Given the description of an element on the screen output the (x, y) to click on. 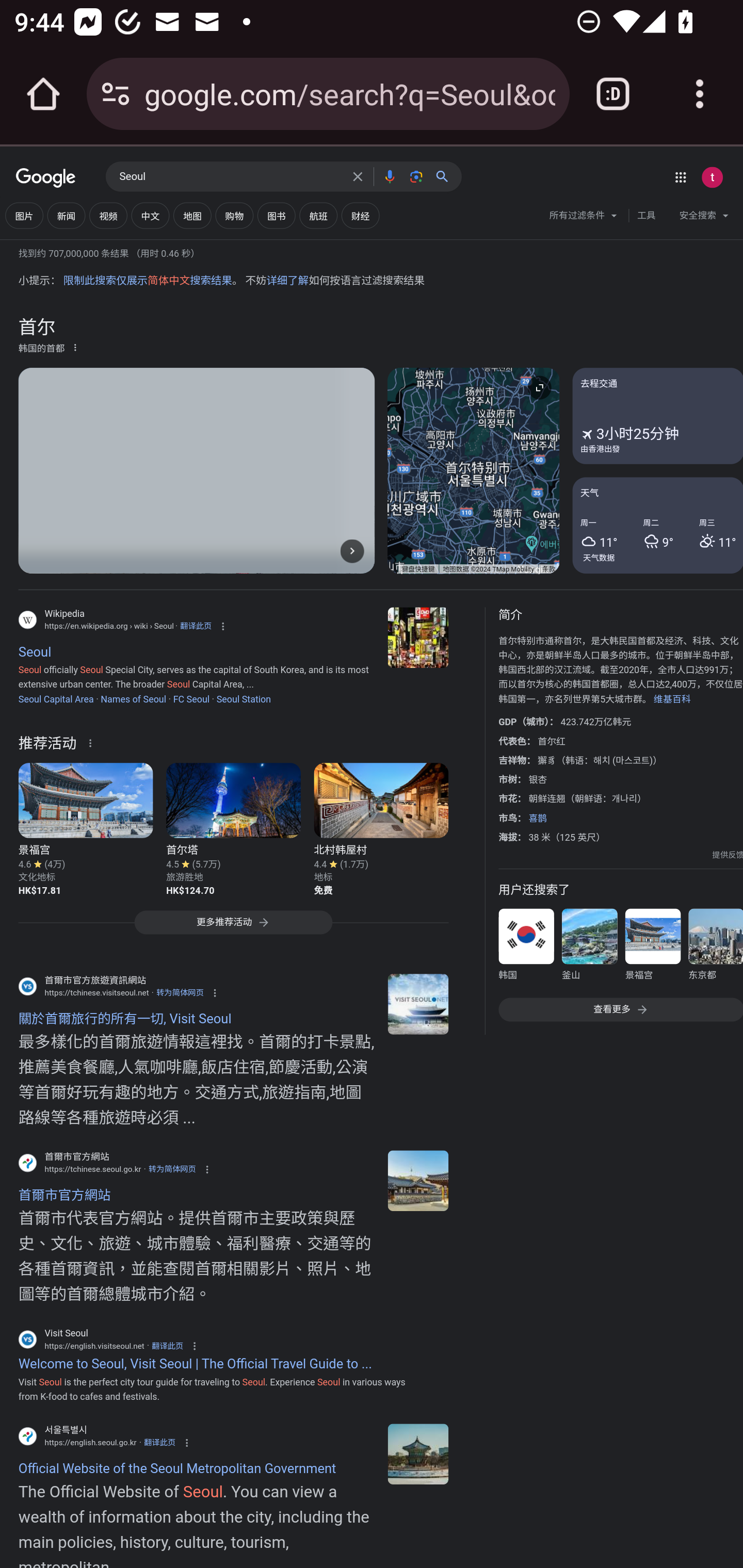
Open the home page (43, 93)
Connection is secure (115, 93)
Switch or close tabs (612, 93)
Customize and control Google Chrome (699, 93)
清除 (357, 176)
按语音搜索 (389, 176)
按图搜索 (415, 176)
搜索 (446, 176)
Google 应用 (680, 176)
Google 账号： test appium (testappium002@gmail.com) (712, 176)
Google (45, 178)
Seoul (229, 177)
图片 (24, 215)
新闻 (65, 215)
视频 (107, 215)
添加“中文” 中文 (149, 215)
地图 (191, 215)
购物 (234, 215)
图书 (276, 215)
航班 (318, 215)
财经 (359, 215)
所有过滤条件 (583, 217)
工具 (646, 215)
安全搜索 (703, 217)
限制此搜索仅展示简体中文搜索结果 限制此搜索仅展示 简体中文 搜索结果 (147, 280)
详细了解 (287, 280)
更多选项 (74, 347)
去程交通 3小时25分钟 乘坐飞机 由香港出發 (657, 415)
展开地图 (539, 386)
天气 周一 高温 11 度 周二 高温 9 度 周三 高温 11 度 (657, 524)
下一张图片 (352, 550)
天气数据 (599, 557)
Seoul (417, 636)
翻译此页 (195, 626)
Seoul Capital Area (55, 698)
Names of Seoul (133, 698)
FC Seoul (190, 698)
Seoul Station (243, 698)
维基百科 (671, 698)
关于这条结果的详细信息 (93, 742)
喜鹊 (537, 817)
提供反馈 (727, 854)
韩国 (526, 947)
釜山 (588, 947)
景福宫 (652, 947)
东京都 (715, 947)
更多推荐活动 (232, 926)
tchinese.visitseoul (417, 1003)
转为简体网页 (179, 992)
查看更多 查看更多 查看更多 (620, 1009)
tchinese.seoul.go (417, 1179)
转为简体网页 (171, 1169)
翻译此页 (167, 1345)
english.seoul.go (417, 1453)
翻译此页 (159, 1442)
